Given the description of an element on the screen output the (x, y) to click on. 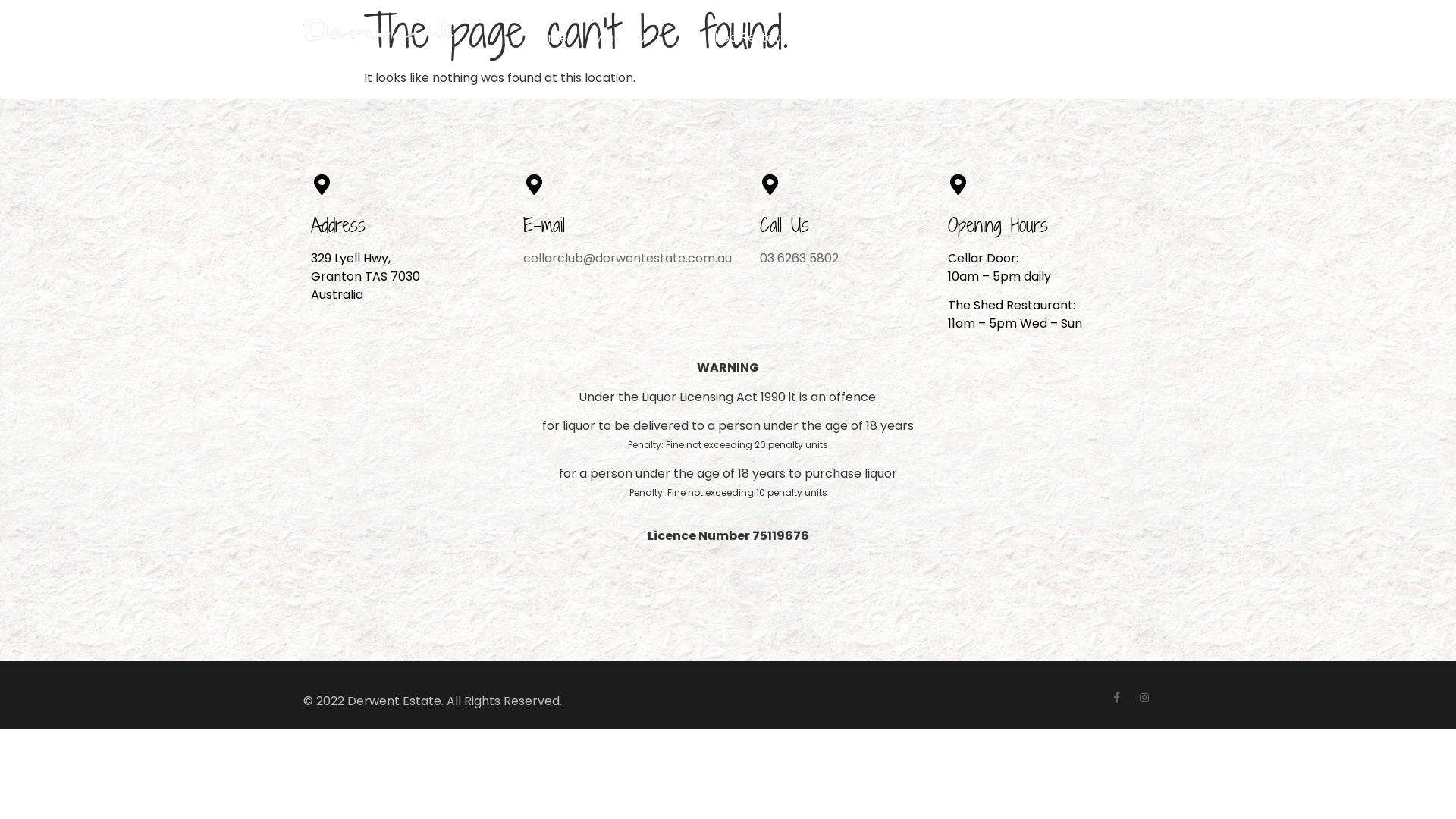
Cart Element type: text (1076, 37)
Shop Element type: text (852, 37)
The Shed Restaurant Element type: text (744, 37)
Home Element type: text (549, 37)
03 6263 5802 Element type: text (798, 257)
derwent-estate-Logo-no-boat Element type: hover (379, 38)
Login Element type: text (1126, 37)
Wine Club Element type: text (927, 37)
About Us Element type: text (624, 37)
cellarclub@derwentestate.com.au Element type: text (627, 257)
Contact Element type: text (1012, 37)
